Given the description of an element on the screen output the (x, y) to click on. 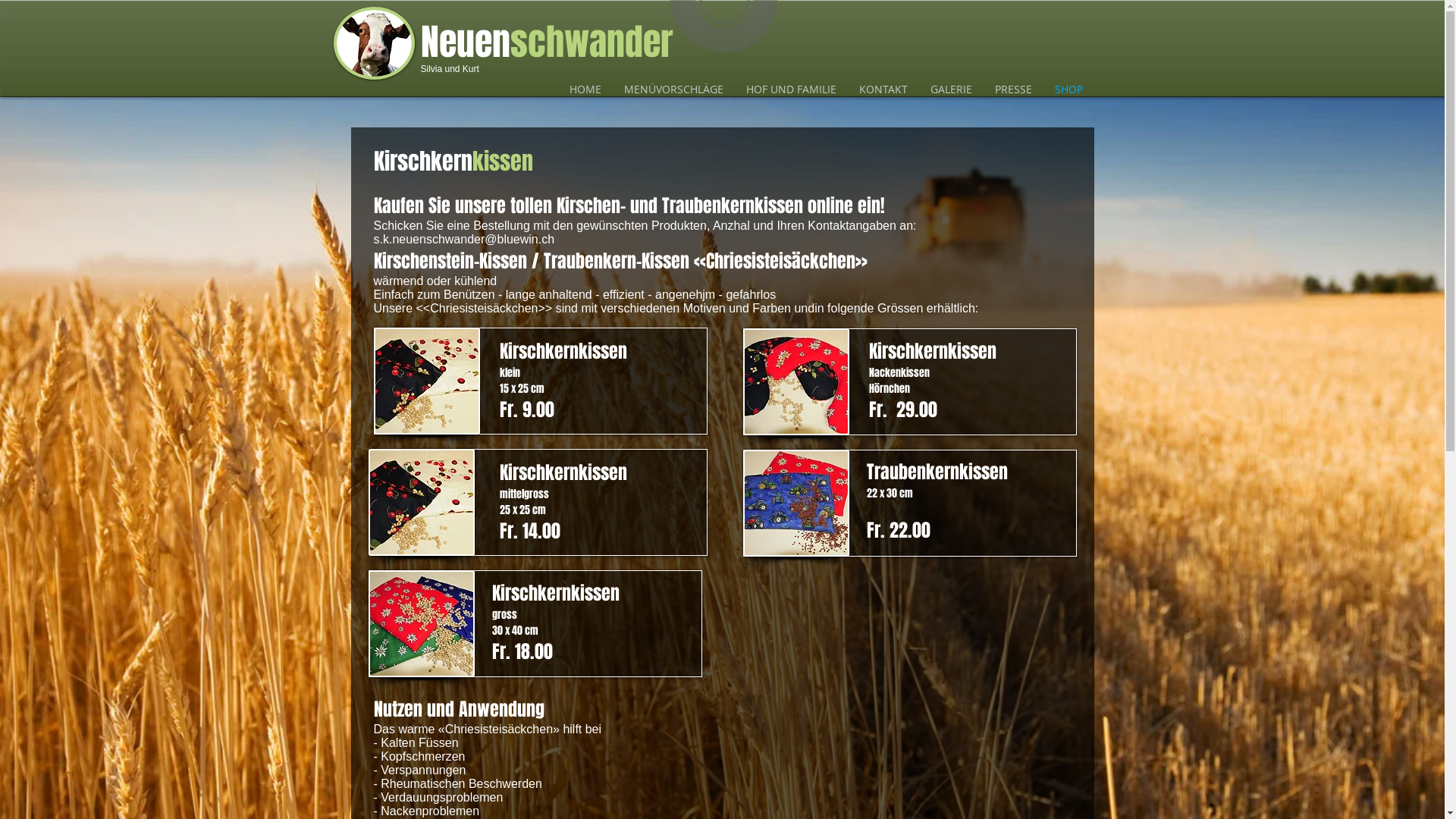
HOF UND FAMILIE Element type: text (790, 89)
HOME Element type: text (585, 89)
SHOP Element type: text (1068, 89)
shop01.jpg Element type: hover (426, 380)
shop18.jpg Element type: hover (796, 502)
shop16.jpg Element type: hover (796, 381)
PRESSE Element type: text (1012, 89)
KONTAKT Element type: text (883, 89)
GALERIE Element type: text (951, 89)
shop01.jpg Element type: hover (421, 501)
shop15.jpg Element type: hover (421, 623)
s.k.neuenschwander@bluewin.ch Element type: text (463, 238)
